Given the description of an element on the screen output the (x, y) to click on. 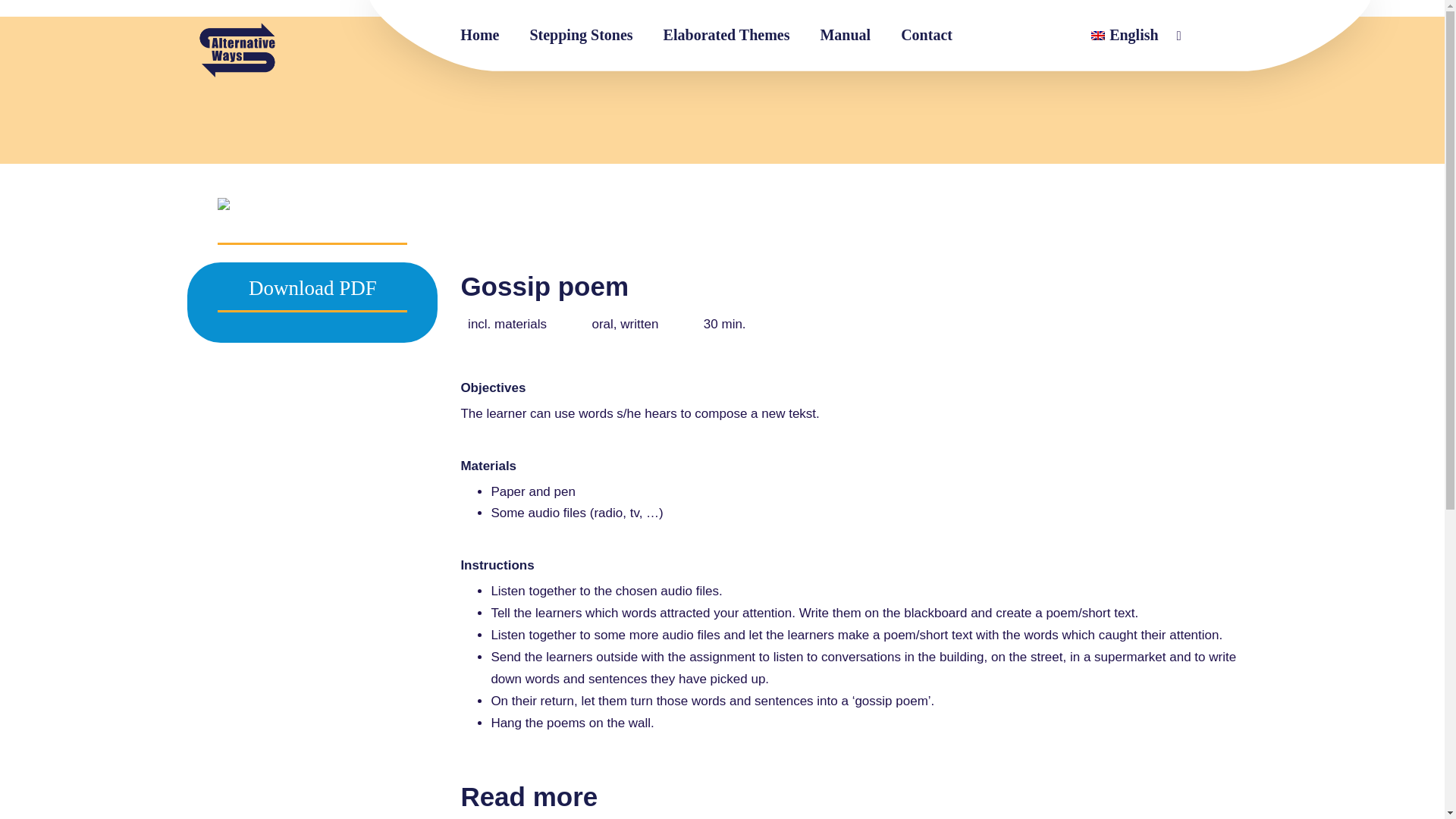
Contact (926, 34)
English (1123, 34)
Elaborated Themes (726, 34)
Download PDF (311, 289)
English (1123, 34)
Stepping Stones (580, 34)
Home (479, 34)
Manual (844, 34)
